Given the description of an element on the screen output the (x, y) to click on. 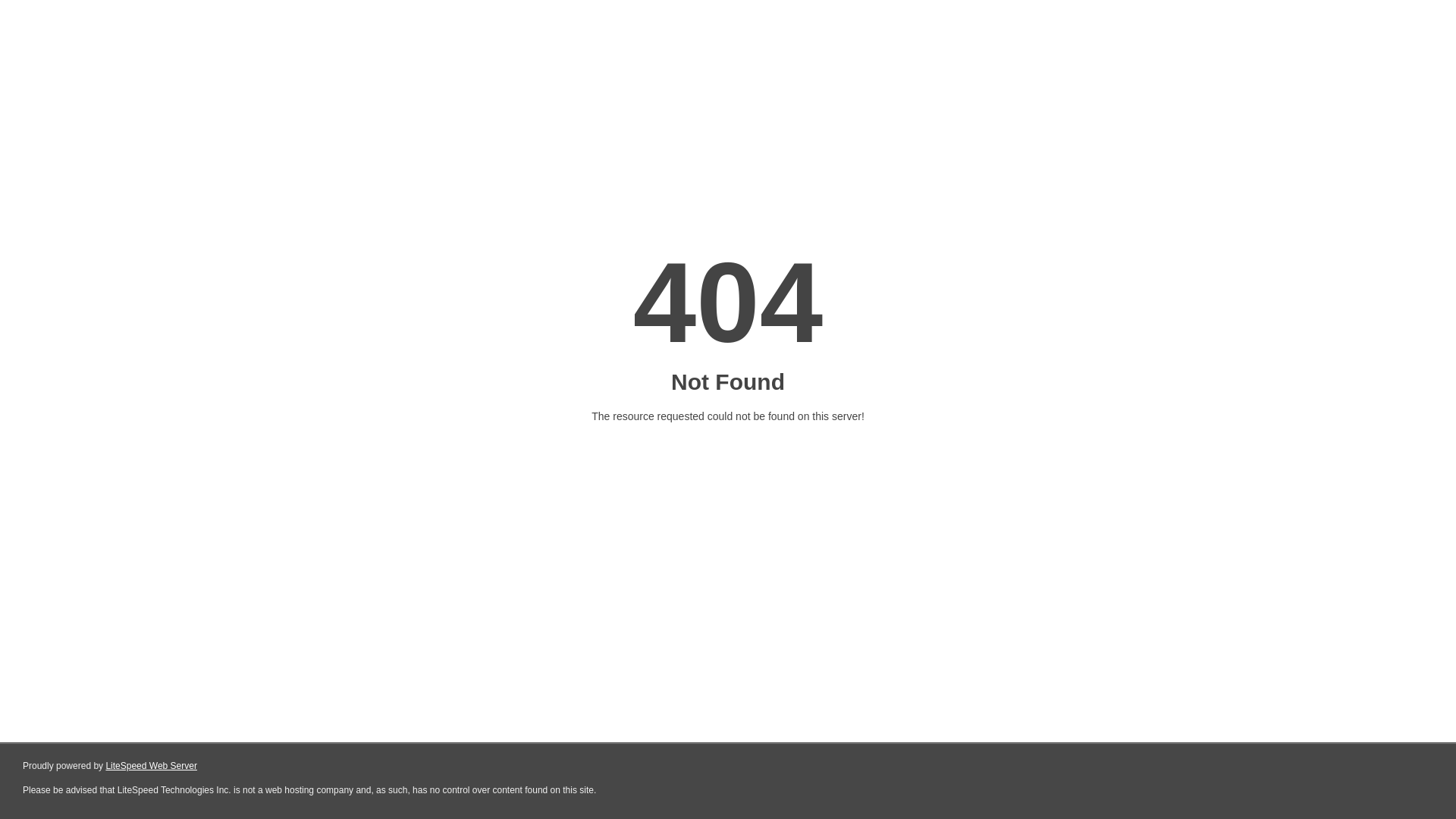
LiteSpeed Web Server Element type: text (151, 765)
